Given the description of an element on the screen output the (x, y) to click on. 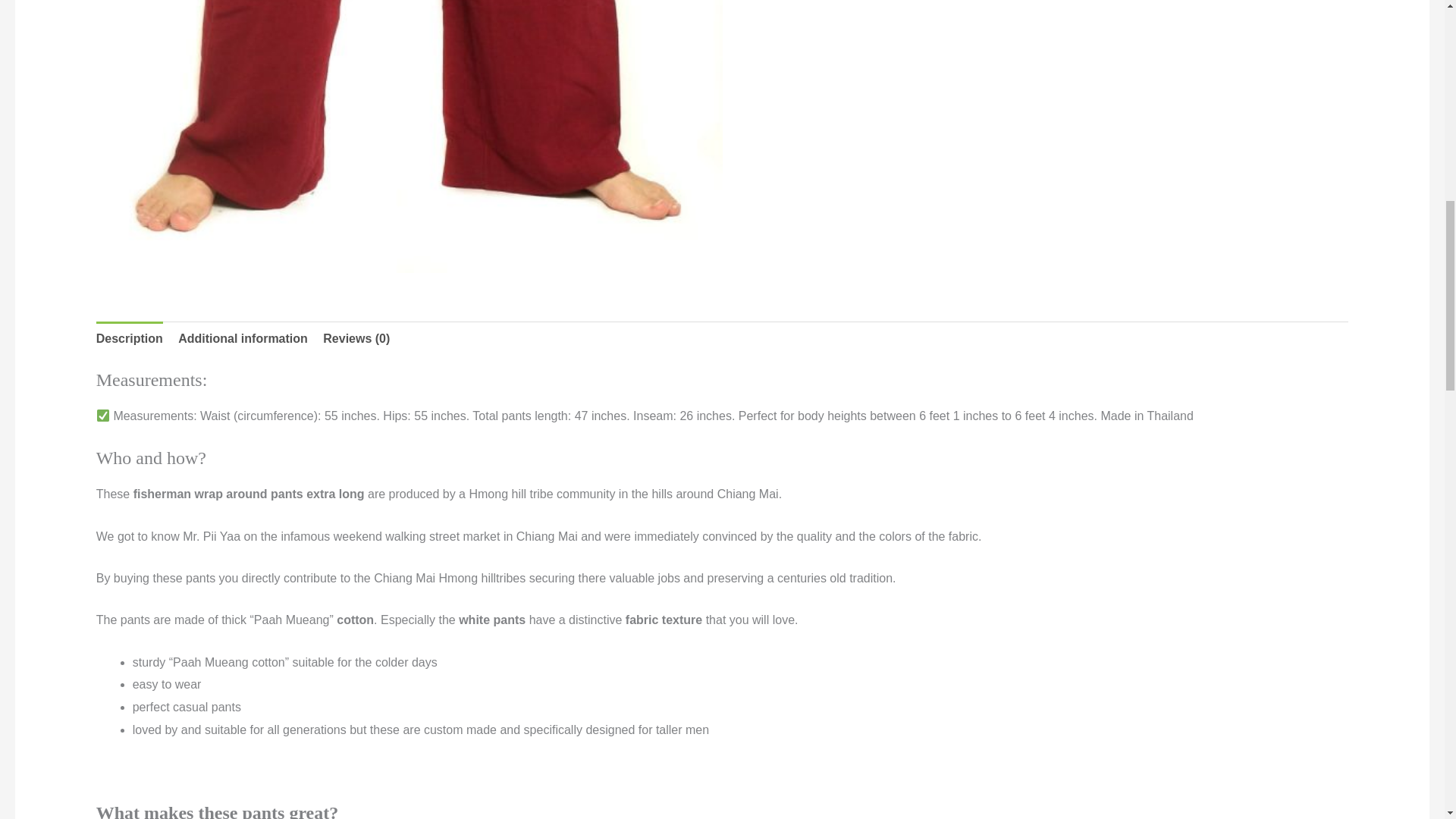
Description (129, 338)
Additional information (242, 338)
